Given the description of an element on the screen output the (x, y) to click on. 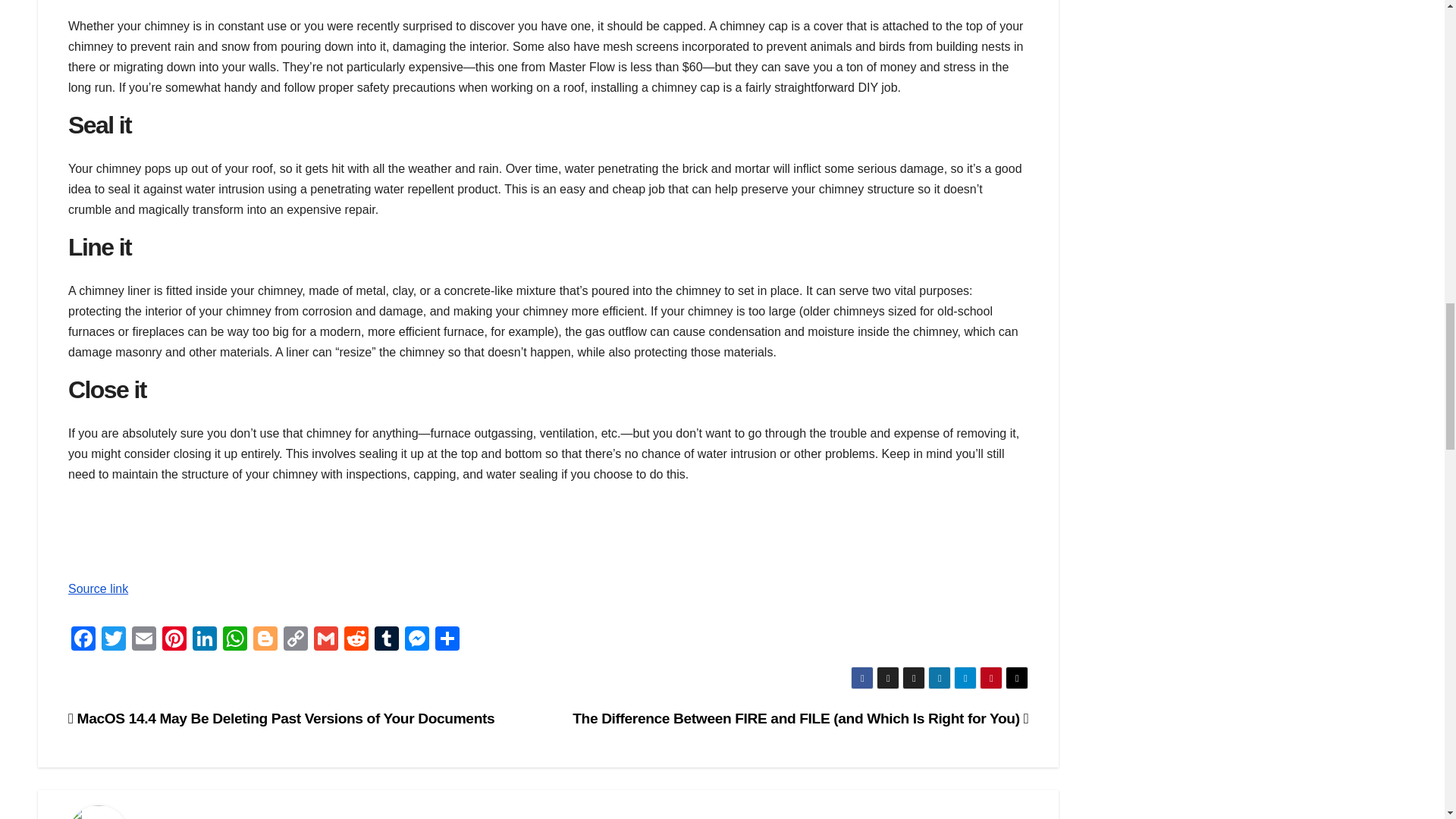
Twitter (114, 640)
Source link (98, 588)
Facebook (83, 640)
Pinterest (173, 640)
LinkedIn (204, 640)
Email (143, 640)
